Given the description of an element on the screen output the (x, y) to click on. 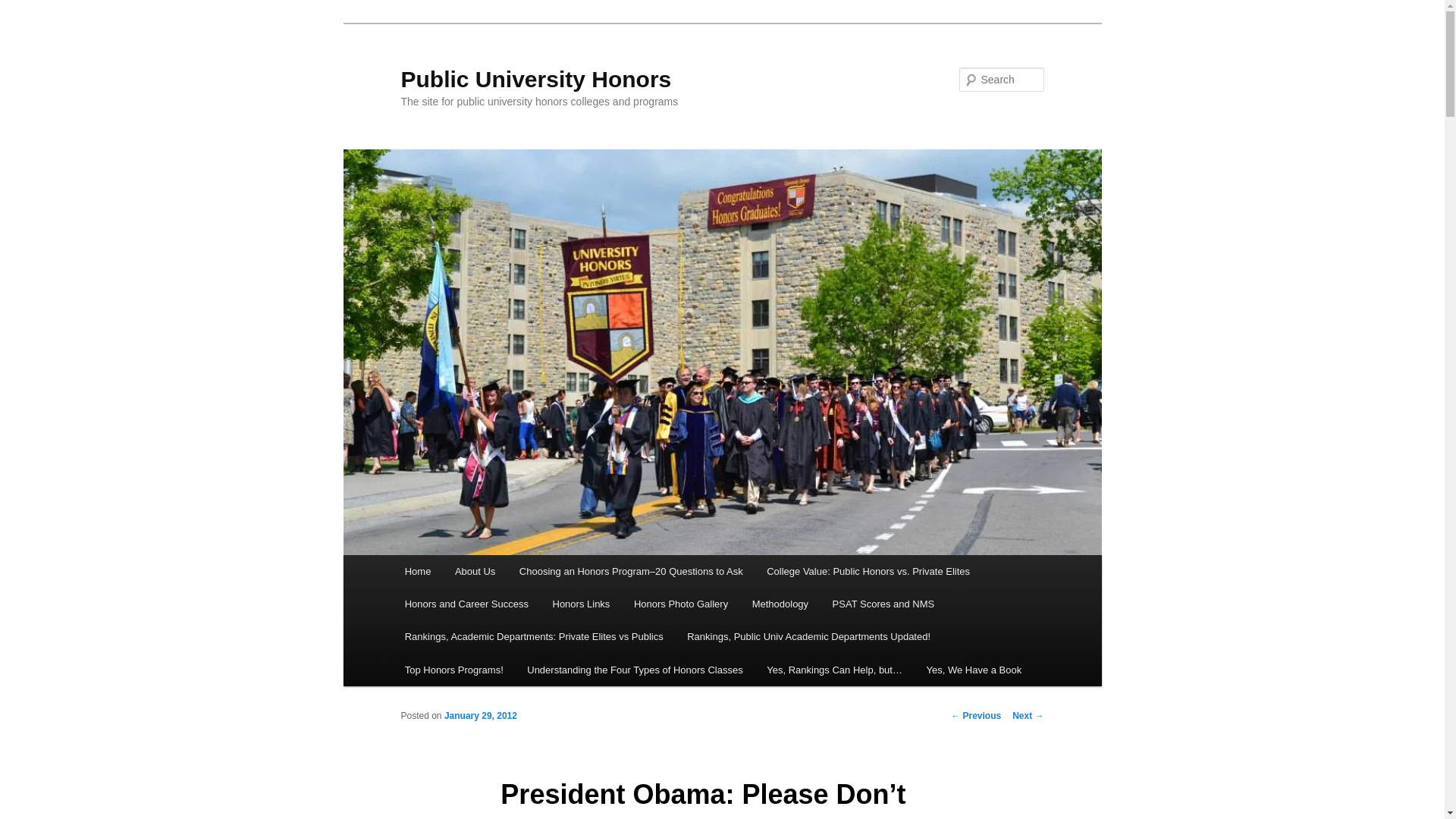
Top Honors Programs! (454, 669)
Yes, We Have a Book (973, 669)
Public University Honors (535, 78)
Rankings, Public Univ Academic Departments Updated! (808, 635)
Home (417, 571)
Honors and Career Success (466, 603)
Methodology (780, 603)
About Us (474, 571)
Rankings, Academic Departments: Private Elites vs Publics (534, 635)
